Given the description of an element on the screen output the (x, y) to click on. 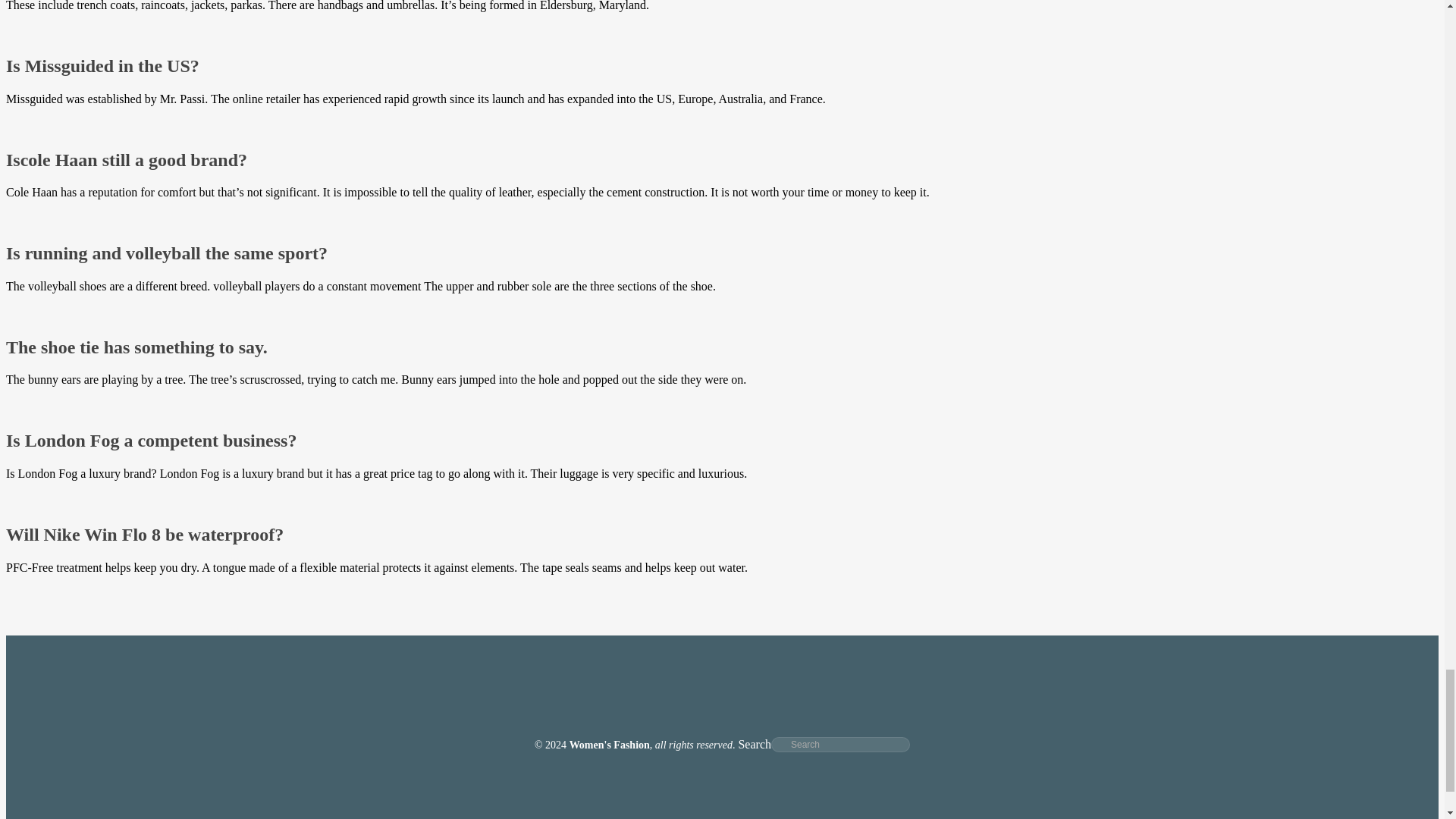
Women's Fashion (609, 745)
